Given the description of an element on the screen output the (x, y) to click on. 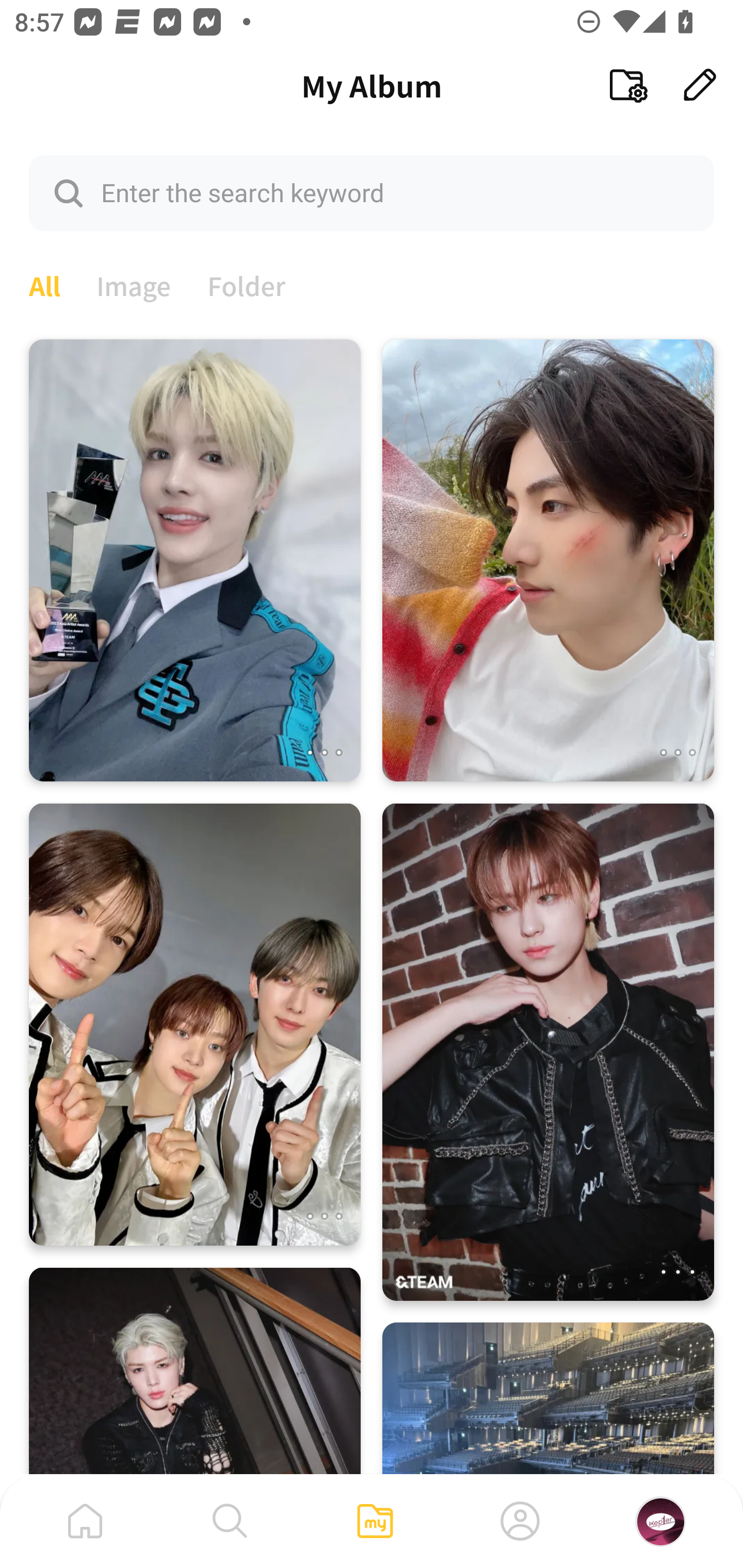
Enter the search keyword (371, 192)
All (44, 284)
Image (133, 284)
Folder (246, 284)
